Given the description of an element on the screen output the (x, y) to click on. 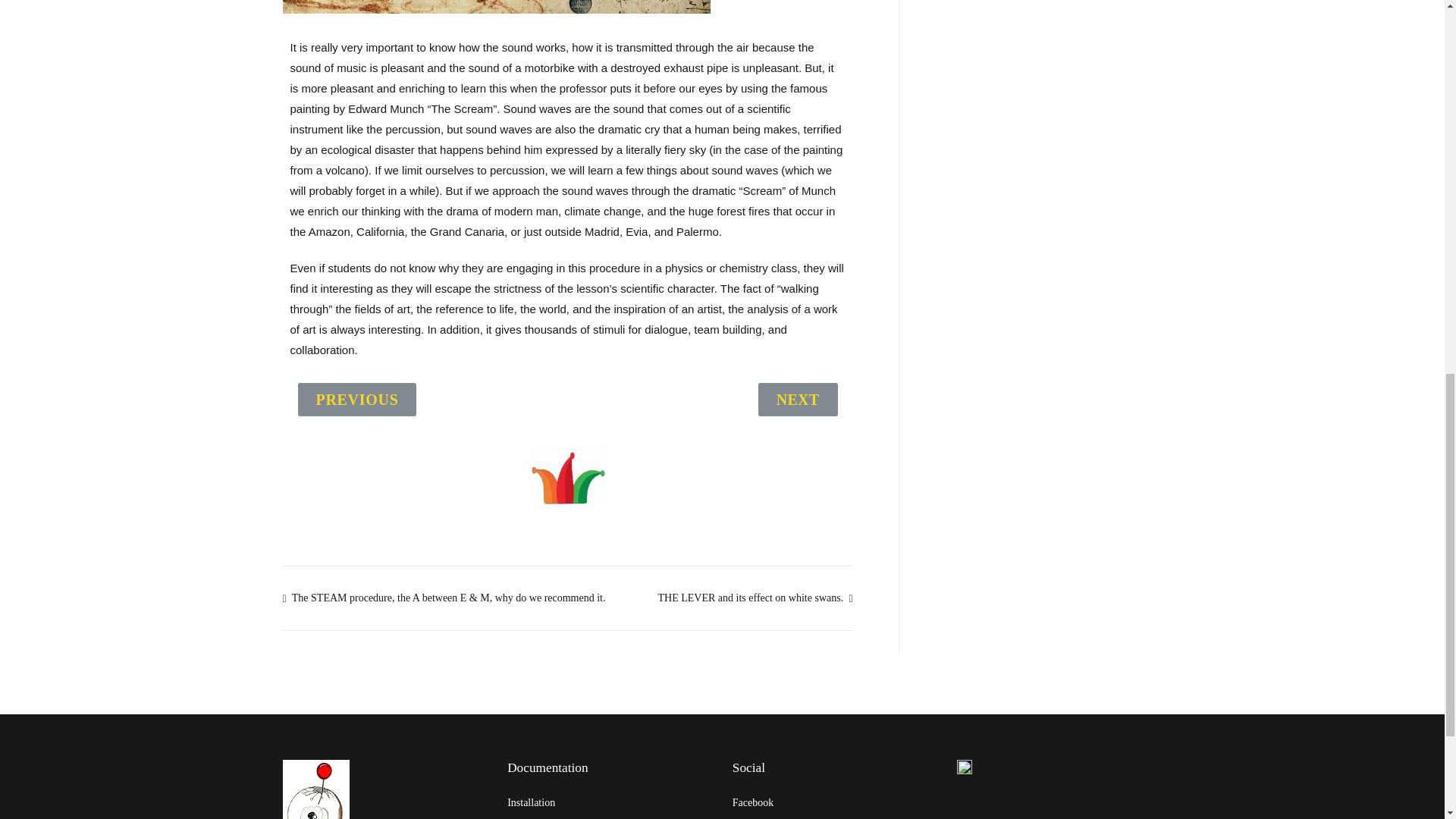
screen-shot-2016-06-10-at-14.05.23- (567, 475)
PREVIOUS (356, 399)
